Given the description of an element on the screen output the (x, y) to click on. 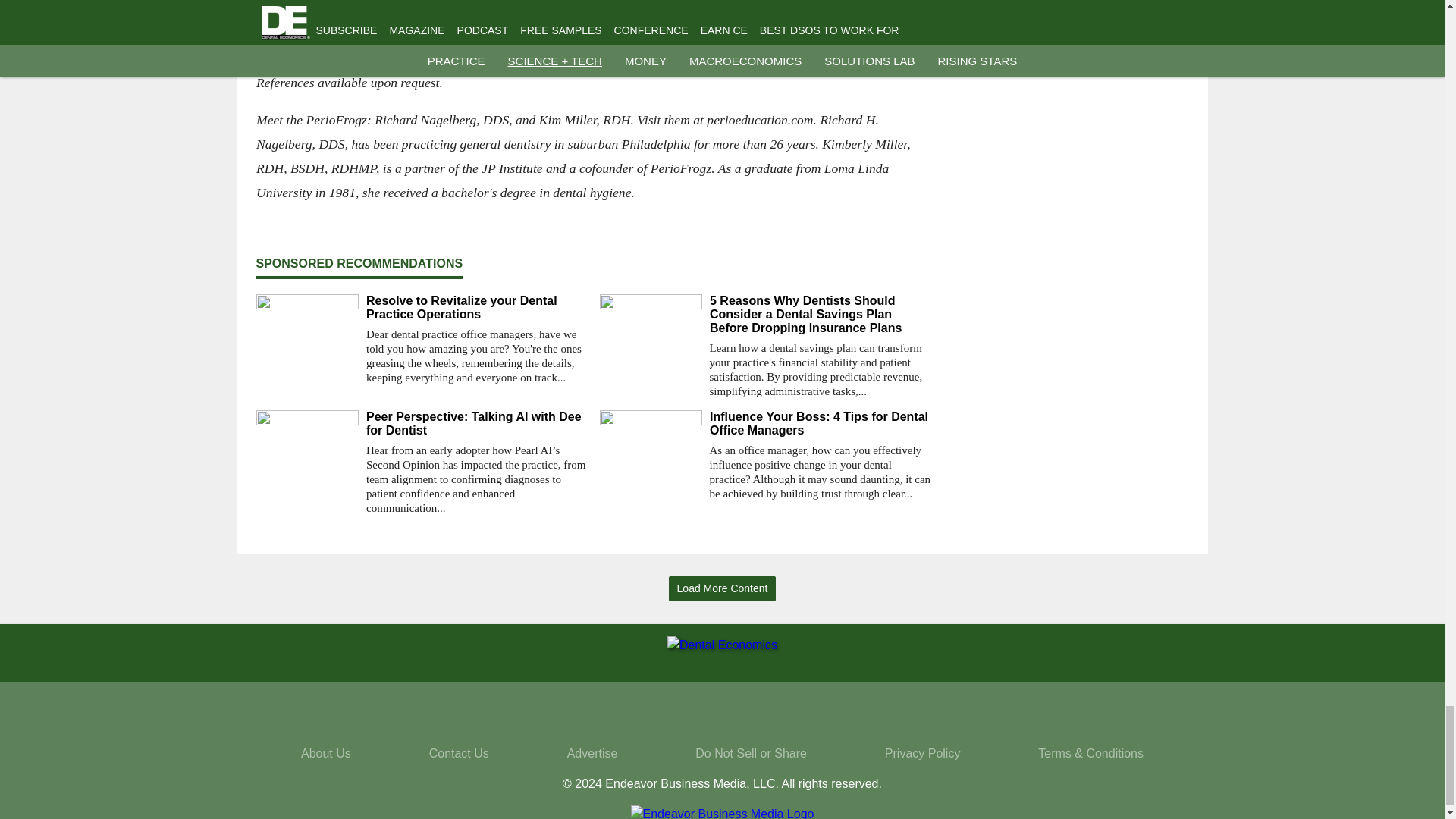
Influence Your Boss: 4 Tips for Dental Office Managers (820, 423)
Resolve to Revitalize your Dental Practice Operations (476, 307)
Peer Perspective: Talking AI with Dee for Dentist (476, 423)
